Given the description of an element on the screen output the (x, y) to click on. 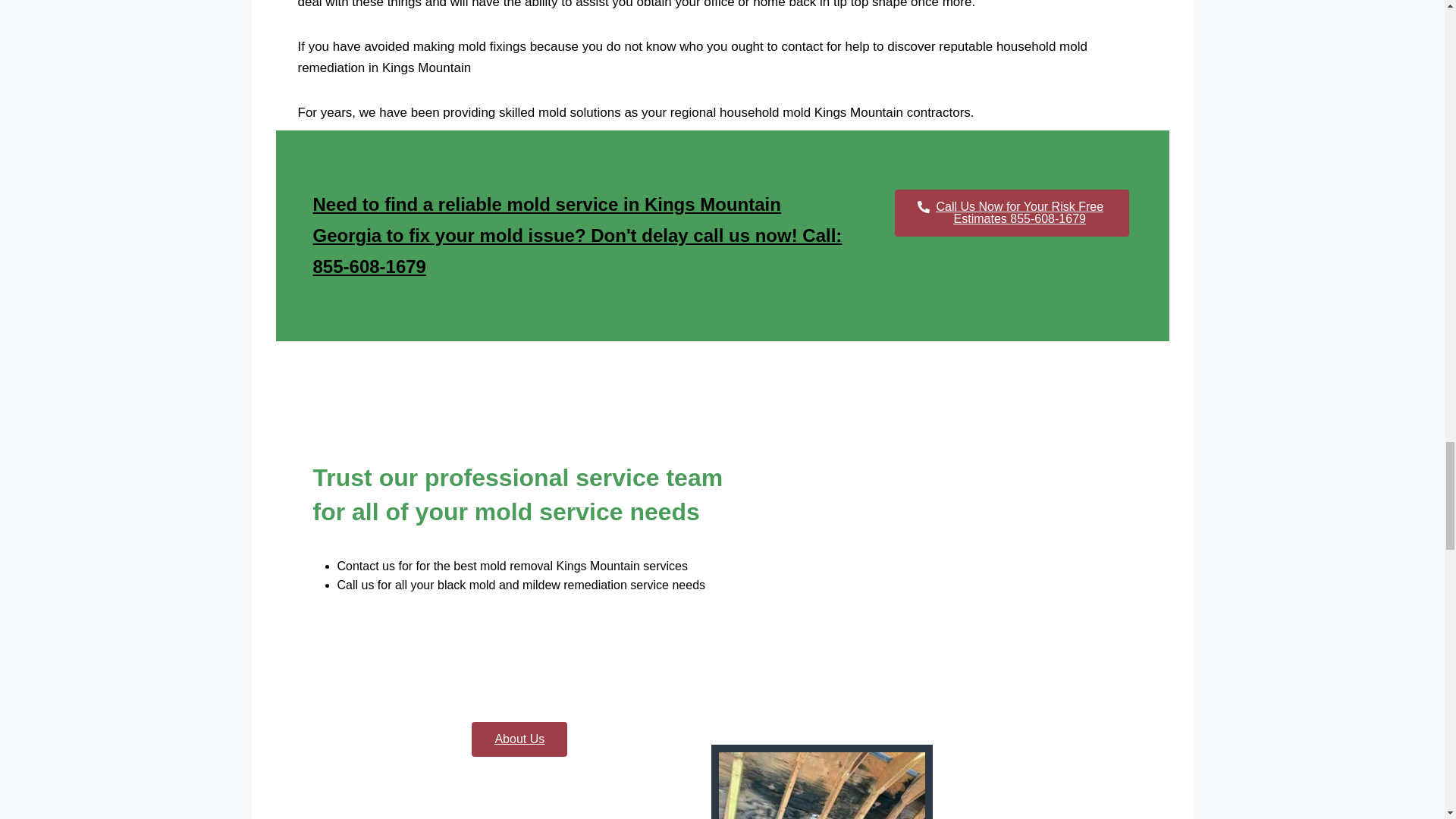
About Us (519, 738)
Call Us Now for Your Risk Free Estimates 855-608-1679 (1012, 212)
